Given the description of an element on the screen output the (x, y) to click on. 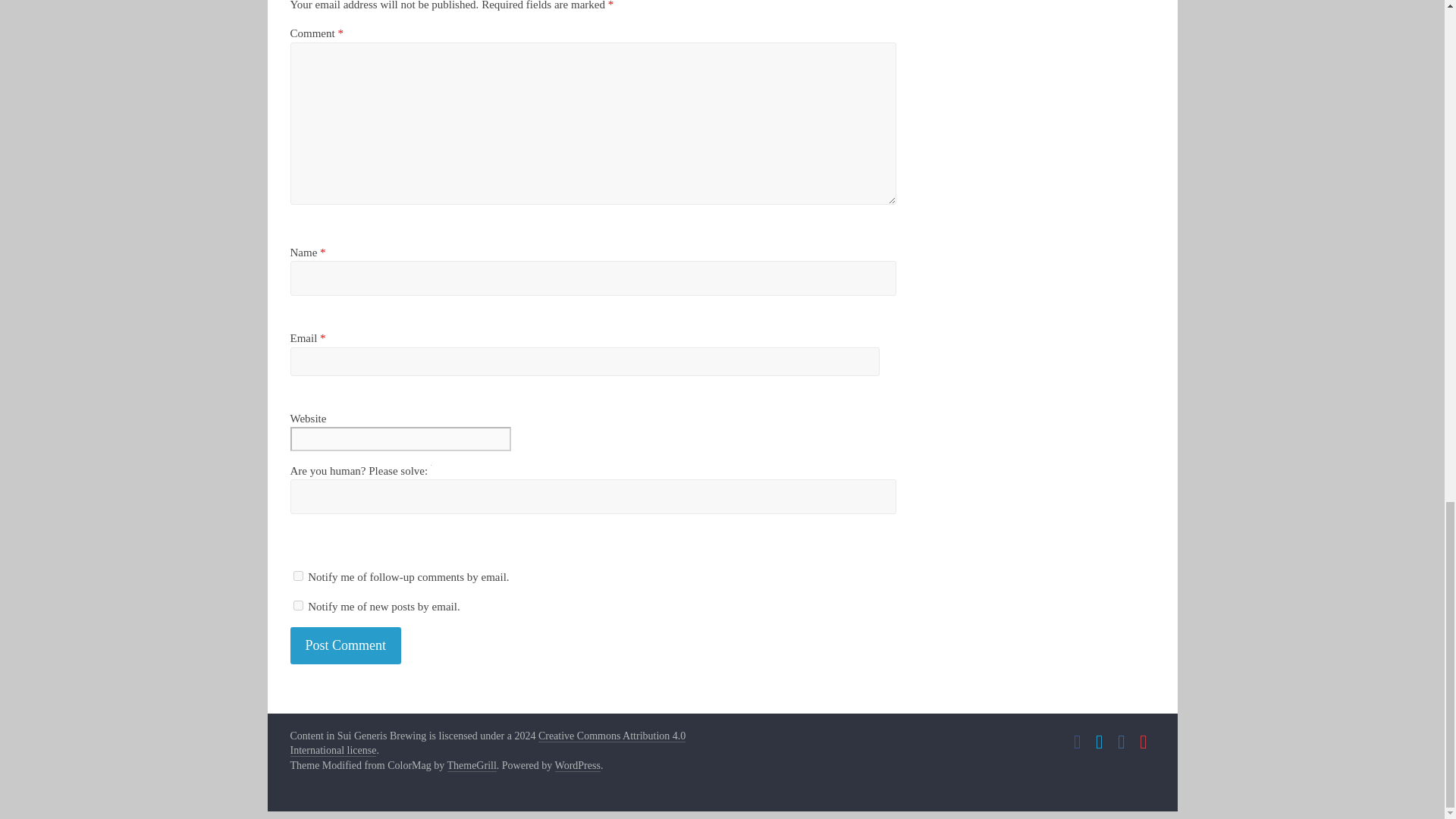
subscribe (297, 605)
Post Comment (345, 645)
subscribe (297, 575)
